Given the description of an element on the screen output the (x, y) to click on. 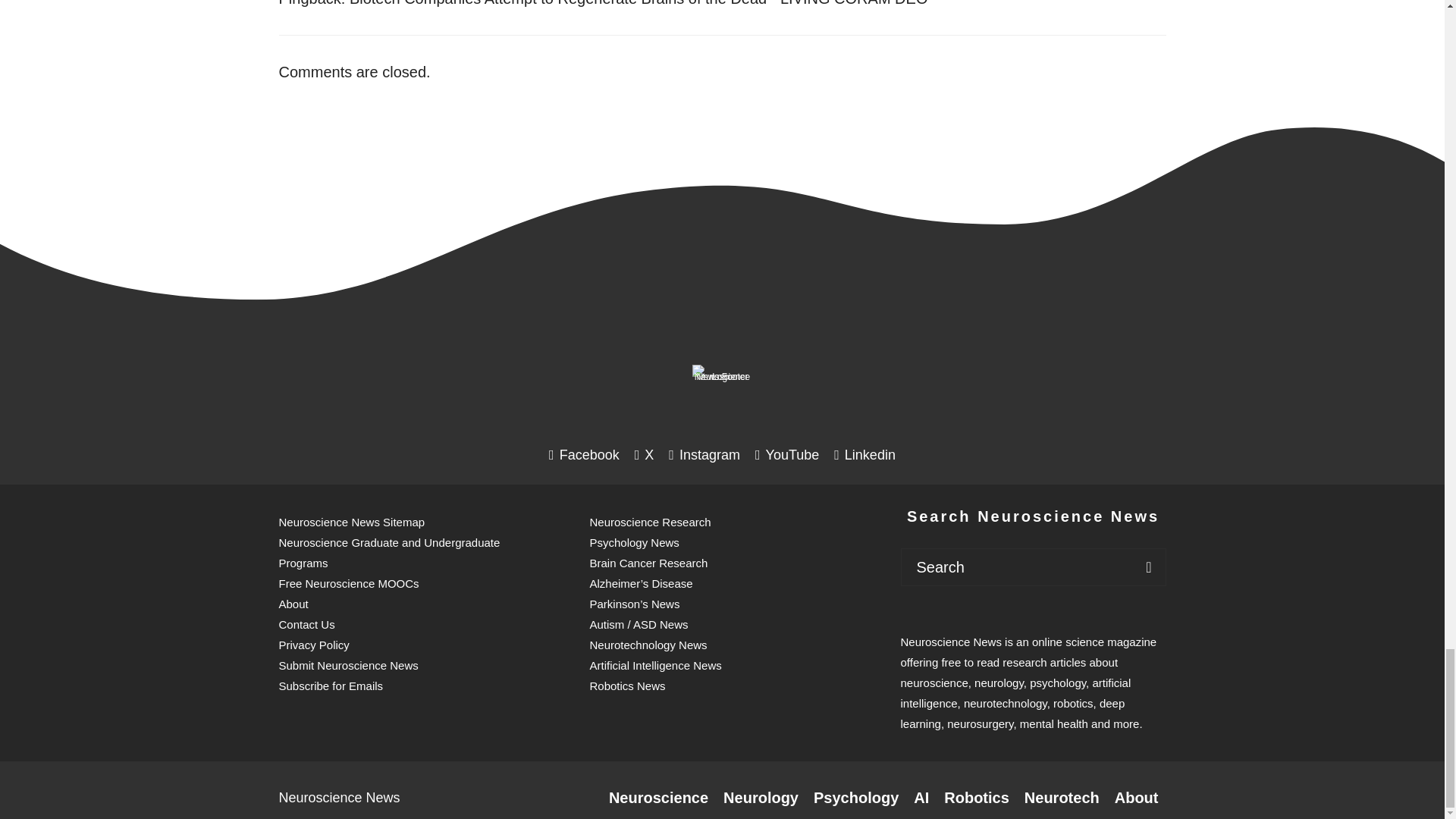
Neuroscience Research (657, 797)
Psychology Research Articles (855, 797)
Neurology Research Articles (760, 797)
